Given the description of an element on the screen output the (x, y) to click on. 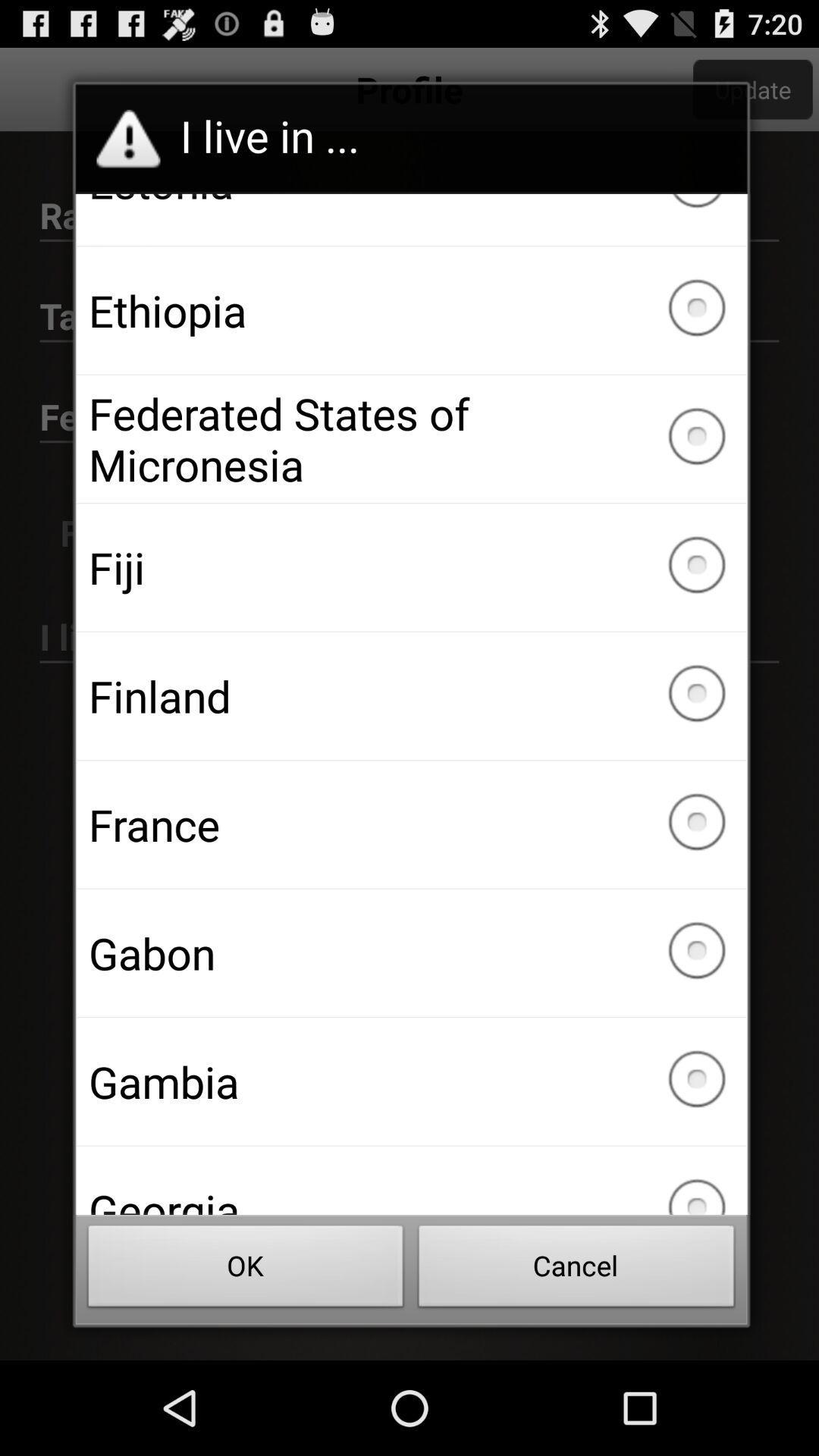
choose icon below georgia (245, 1270)
